Given the description of an element on the screen output the (x, y) to click on. 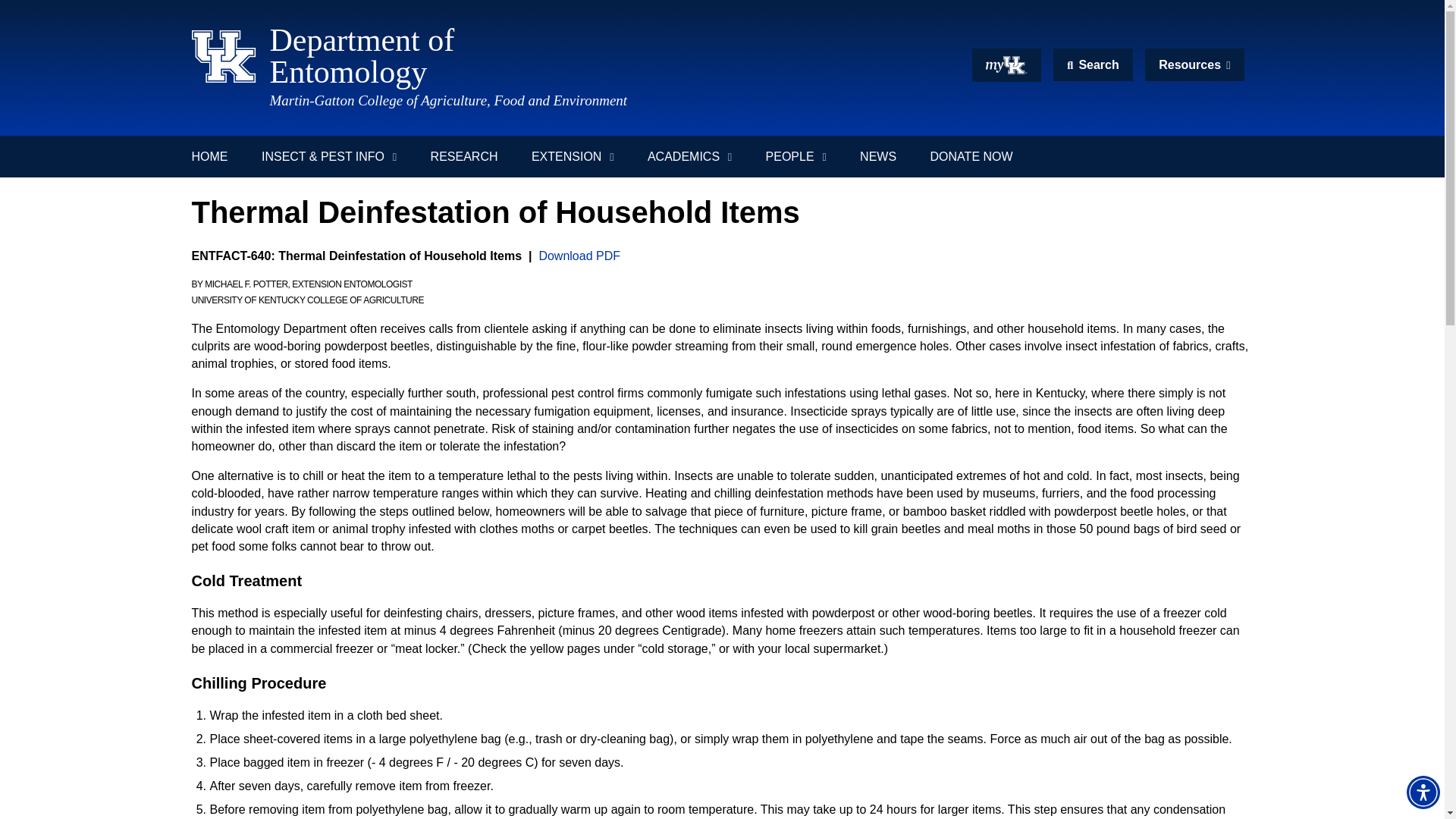
NEWS (877, 156)
PEOPLE (796, 156)
Accessibility Menu (1422, 792)
Search (1092, 64)
HOME (560, 55)
RESEARCH (216, 156)
DONATE NOW (463, 156)
Skip to main content (971, 156)
EXTENSION (721, 6)
ACADEMICS (572, 156)
Log into the myUK portal (688, 156)
Resources (1006, 64)
Martin-Gatton College of Agriculture, Food and Environment (1193, 64)
